Given the description of an element on the screen output the (x, y) to click on. 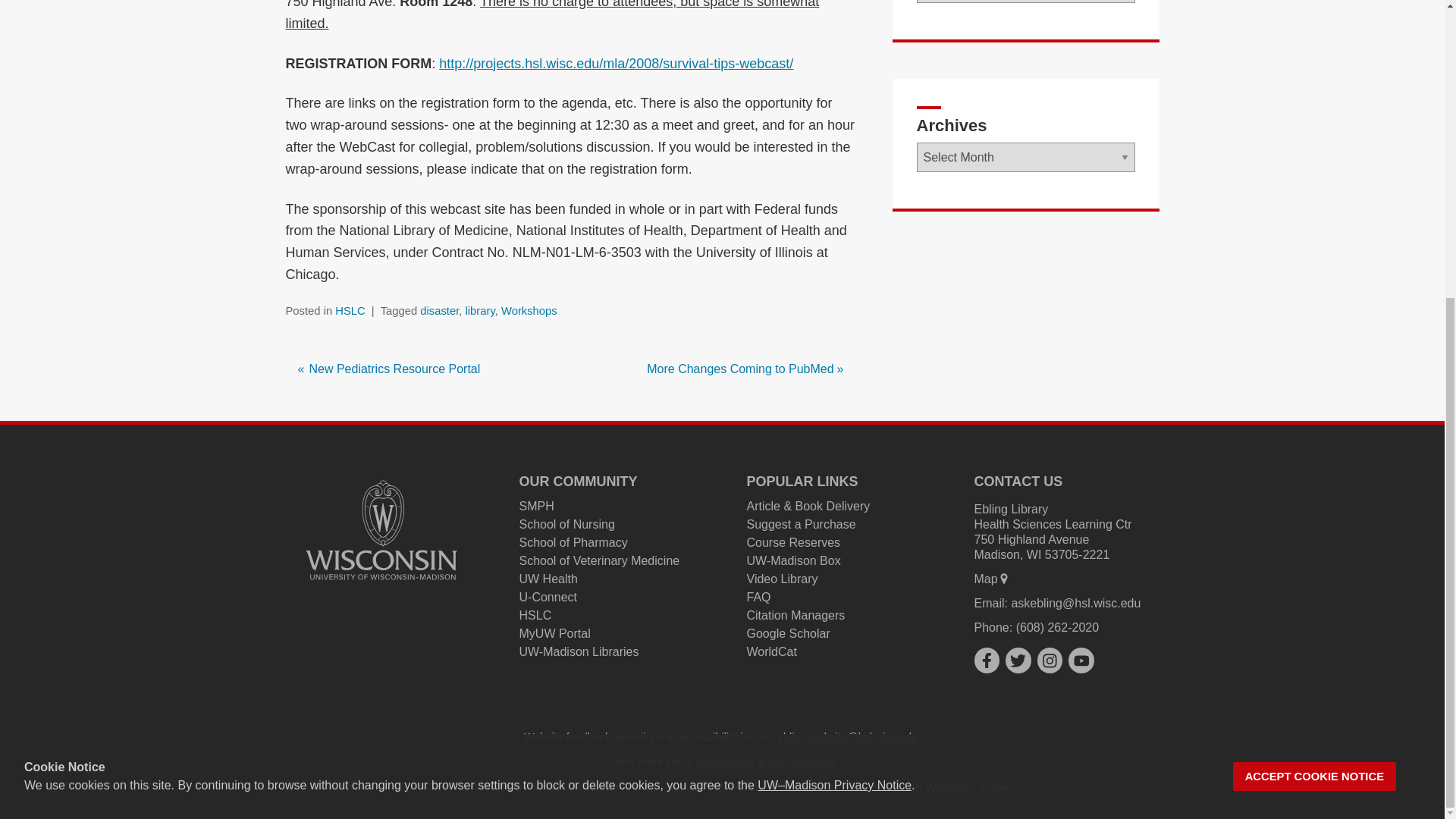
youtube (1081, 660)
map marker (1003, 578)
University logo that links to main university website (380, 530)
instagram (1049, 660)
ACCEPT COOKIE NOTICE (1314, 315)
facebook (986, 660)
twitter (1018, 660)
